Given the description of an element on the screen output the (x, y) to click on. 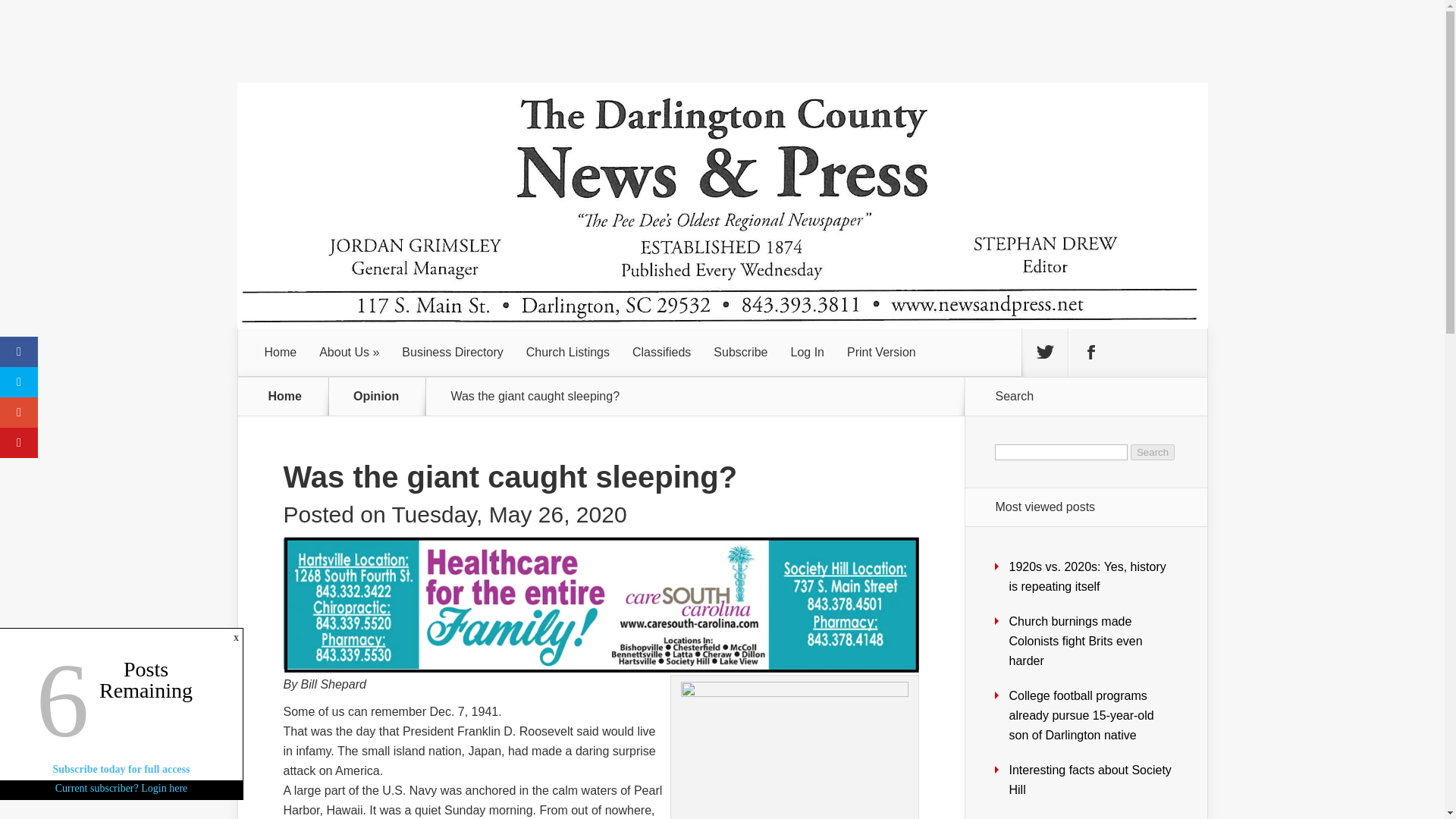
Home (285, 396)
Opinion (384, 396)
Home (280, 352)
Search (1152, 452)
Log In (806, 352)
Print Version (881, 352)
Church burnings made Colonists fight Brits even harder (1075, 641)
Follow us on Twitter (1044, 352)
Church Listings (568, 352)
About Us (348, 352)
Classifieds (661, 352)
Search (1152, 452)
1920s vs. 2020s: Yes, history is repeating itself (1087, 576)
